Given the description of an element on the screen output the (x, y) to click on. 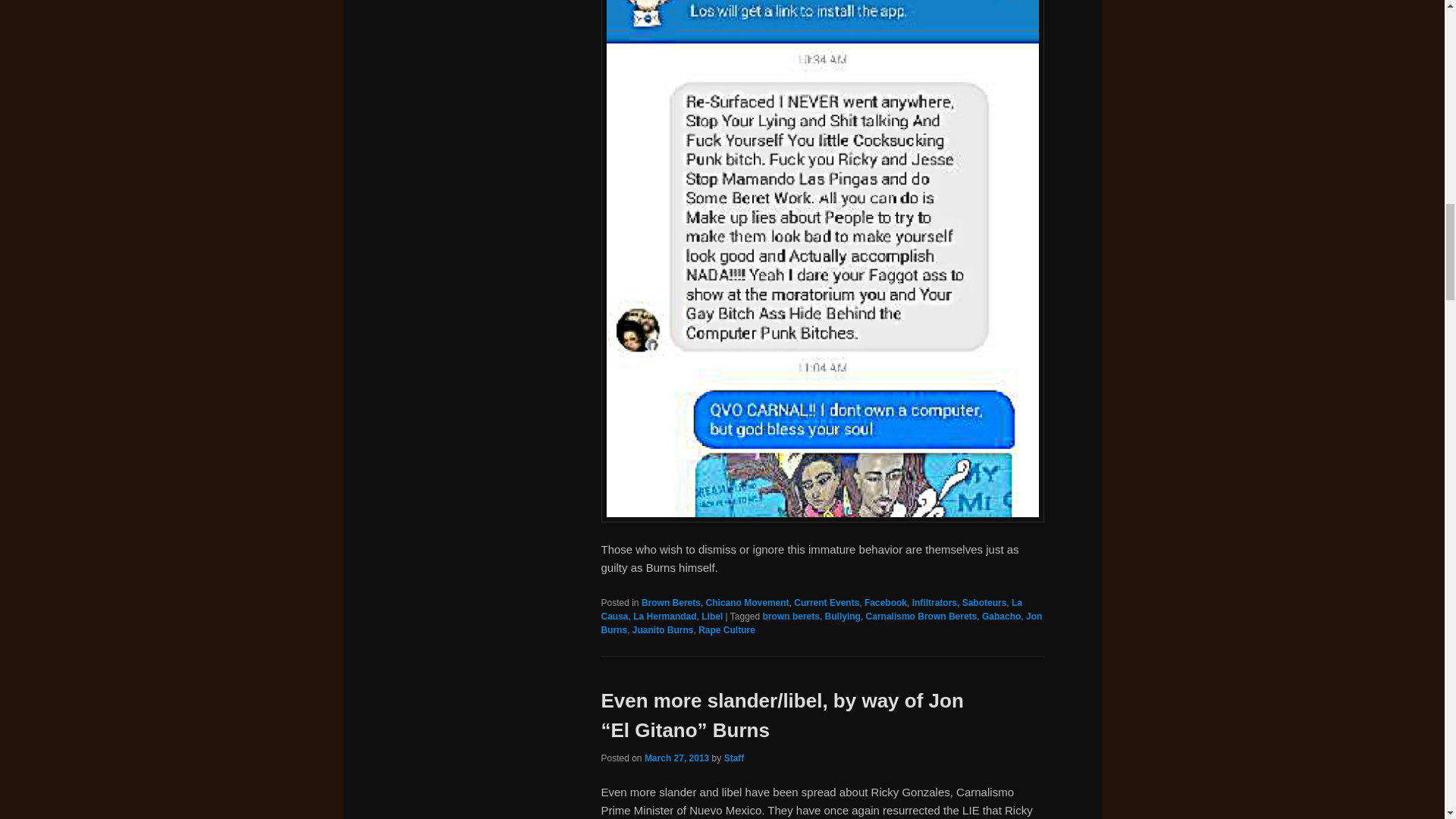
6:43 pm (677, 757)
Libel (711, 615)
Juanito Burns (662, 629)
Staff (733, 757)
View all posts by Staff (733, 757)
Infiltrators, Saboteurs (959, 602)
La Hermandad (664, 615)
La Causa (810, 609)
Current Events (826, 602)
Carnalismo Brown Berets (921, 615)
Jon Burns (820, 622)
Bullying (842, 615)
March 27, 2013 (677, 757)
Brown Berets (671, 602)
Rape Culture (726, 629)
